Given the description of an element on the screen output the (x, y) to click on. 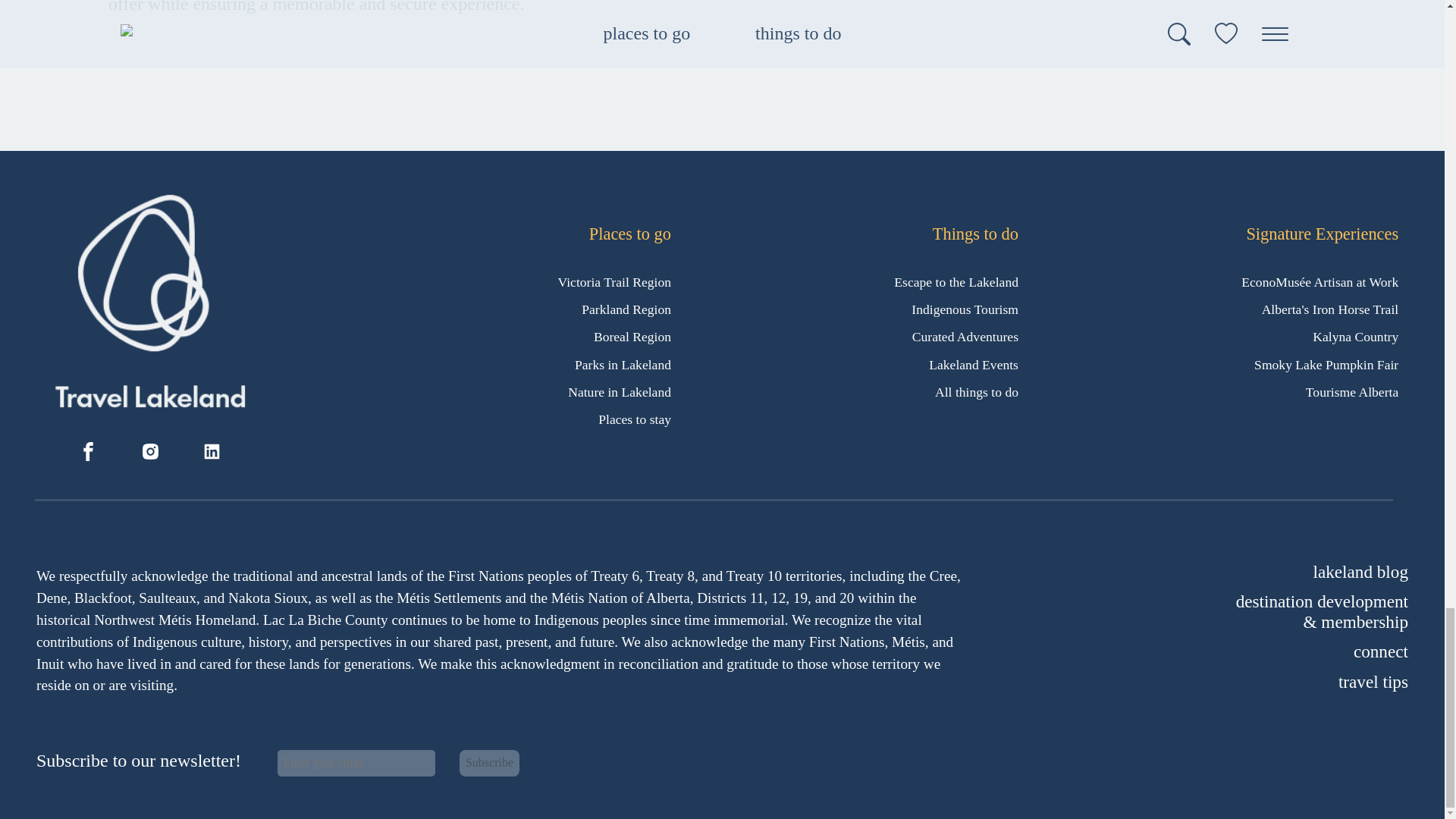
Places to stay (634, 418)
Places to go (630, 233)
Escape to the Lakeland (955, 281)
Victoria Trail Region (614, 281)
Lakeland Events (972, 364)
Boreal Region (632, 336)
Tourisme Alberta (1351, 391)
Signature Experiences (1321, 233)
Alberta's Iron Horse Trail (1330, 309)
Nature in Lakeland (619, 391)
